Given the description of an element on the screen output the (x, y) to click on. 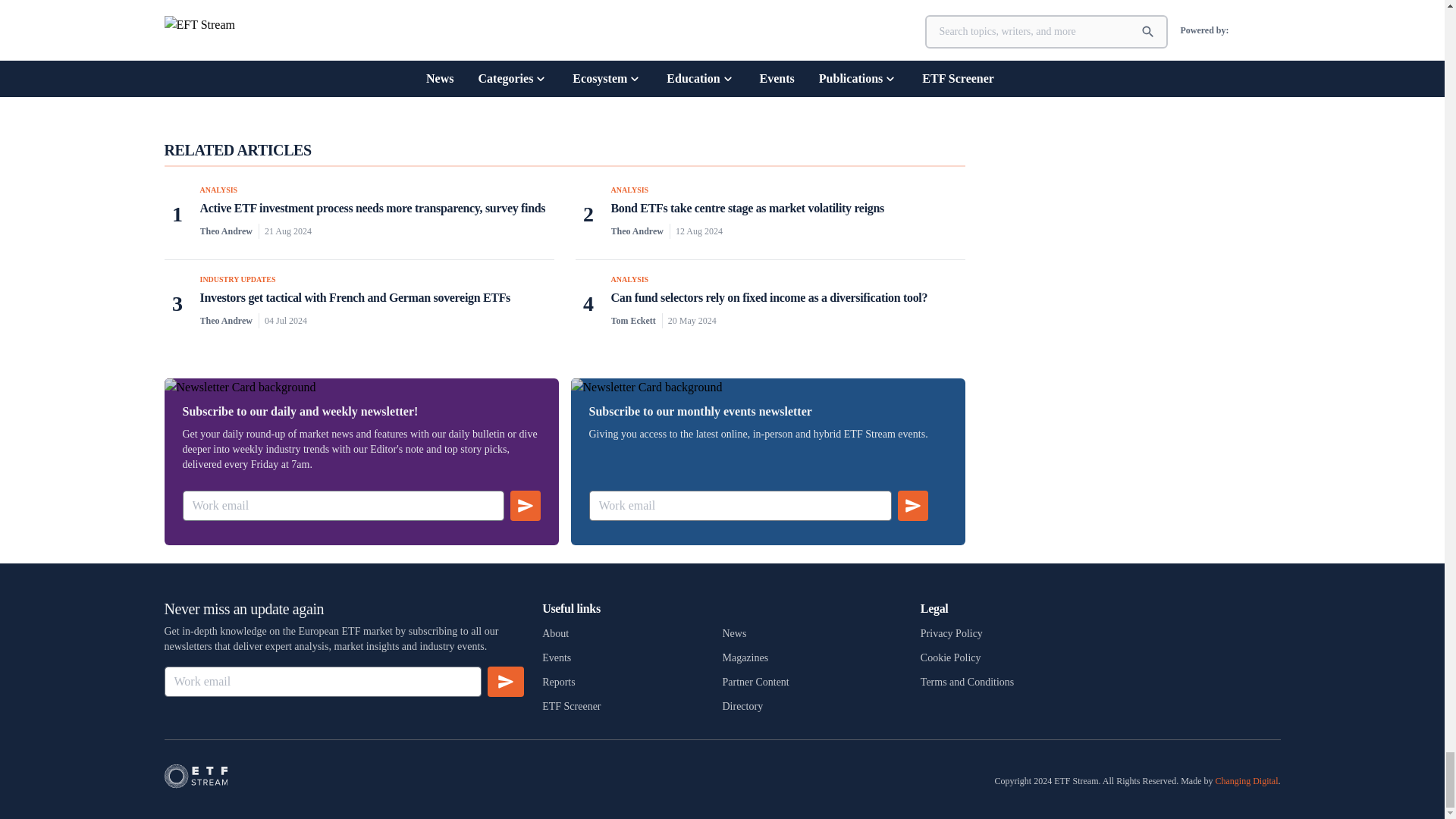
VALUE (746, 75)
SMART BETA (699, 75)
GOVERNMENT BONDS (620, 75)
